Given the description of an element on the screen output the (x, y) to click on. 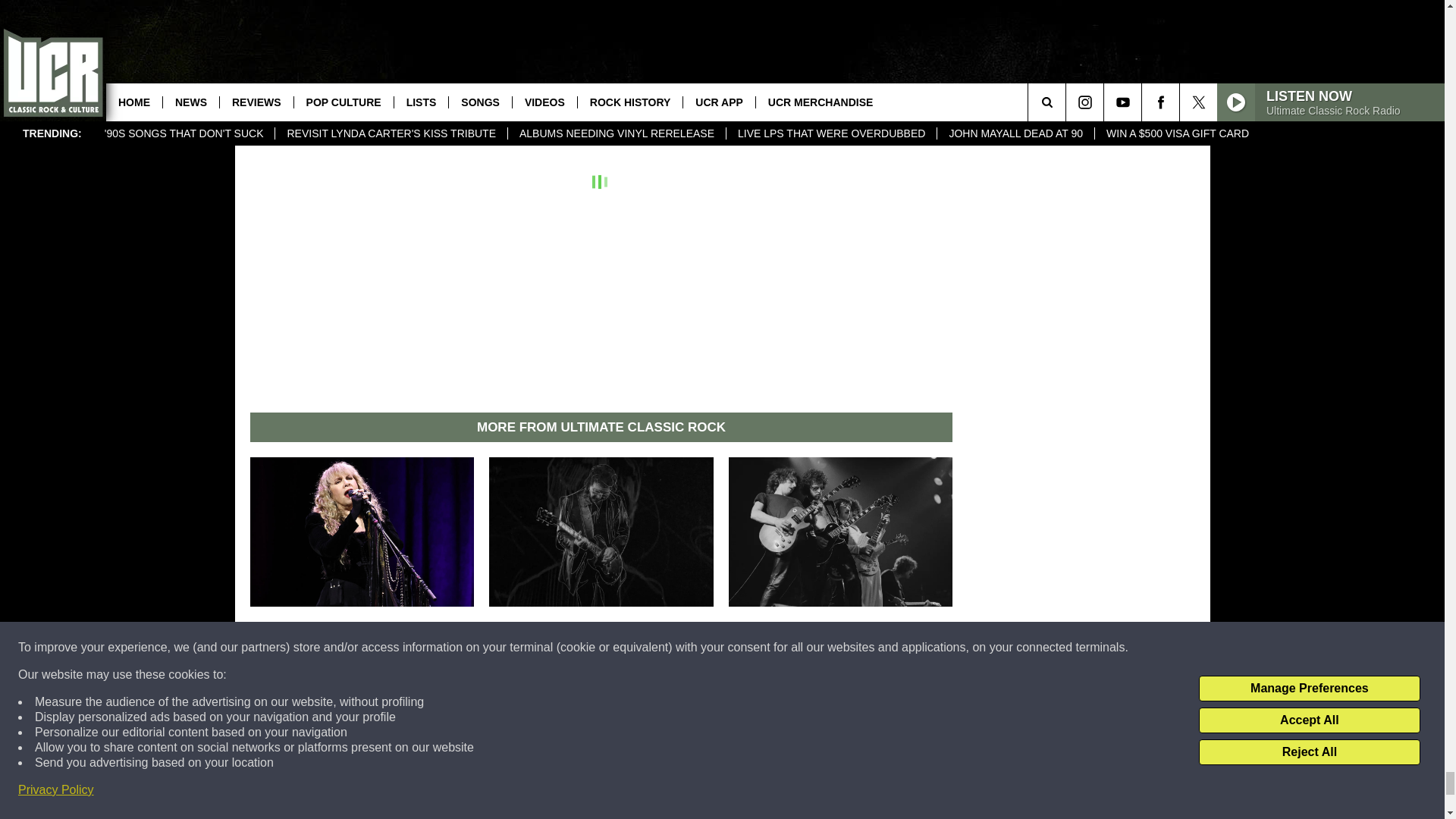
News (398, 37)
